Given the description of an element on the screen output the (x, y) to click on. 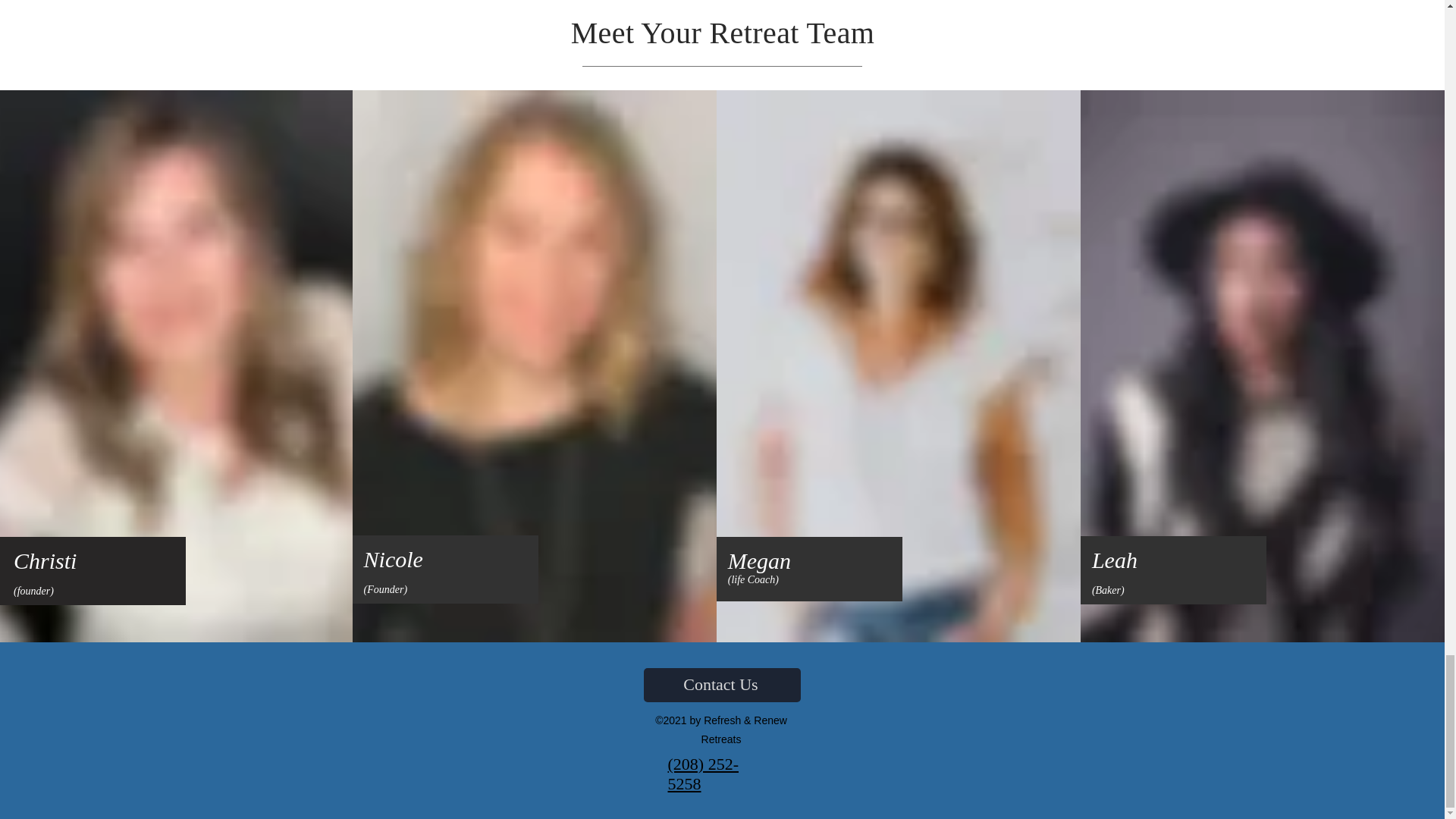
Meet Your Retreat Team (722, 32)
Contact Us (721, 684)
